Given the description of an element on the screen output the (x, y) to click on. 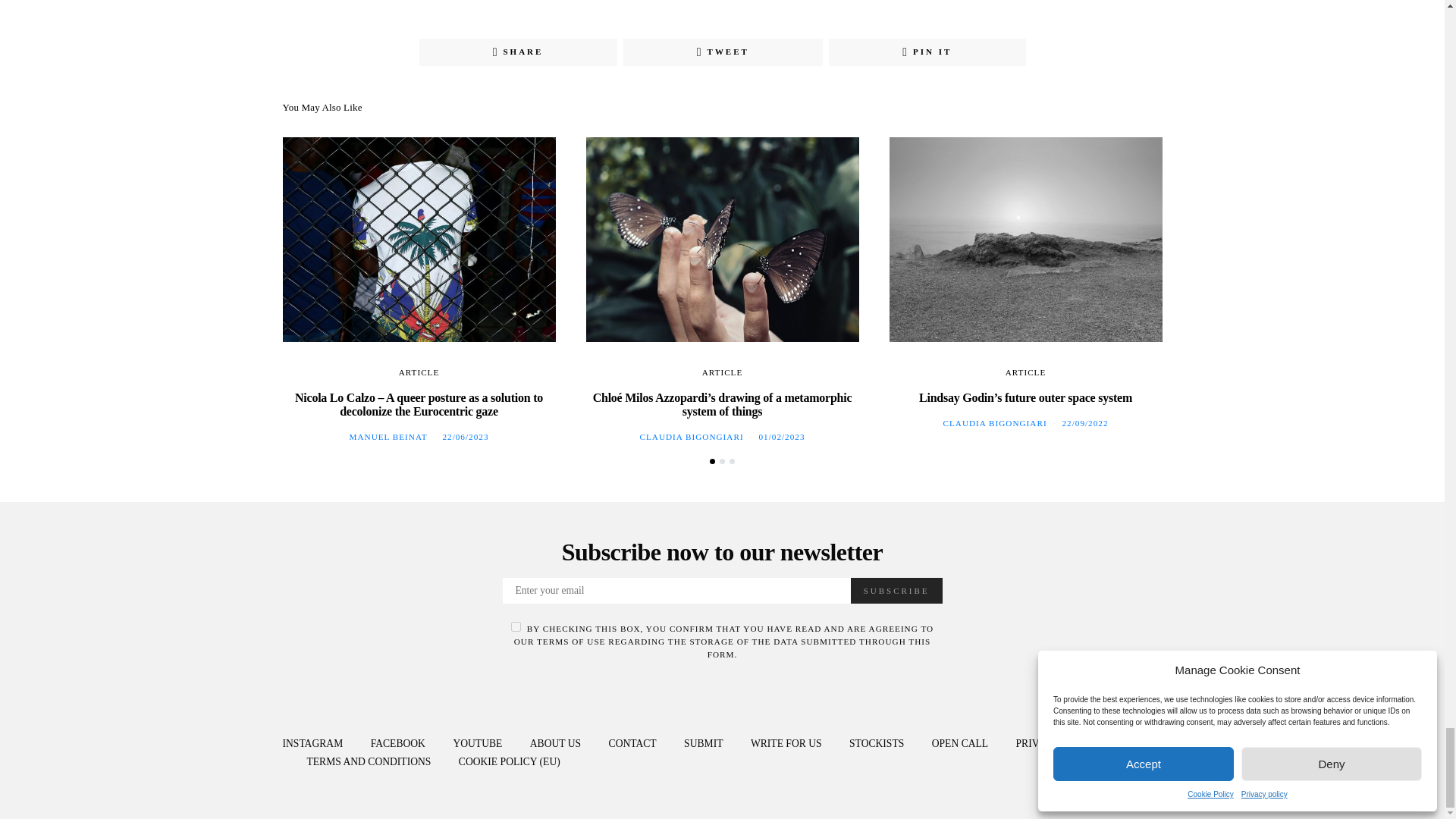
View all posts by Claudia Bigongiari (690, 436)
View all posts by Claudia Bigongiari (994, 422)
View all posts by Manuel Beinat (387, 436)
on (516, 626)
